Given the description of an element on the screen output the (x, y) to click on. 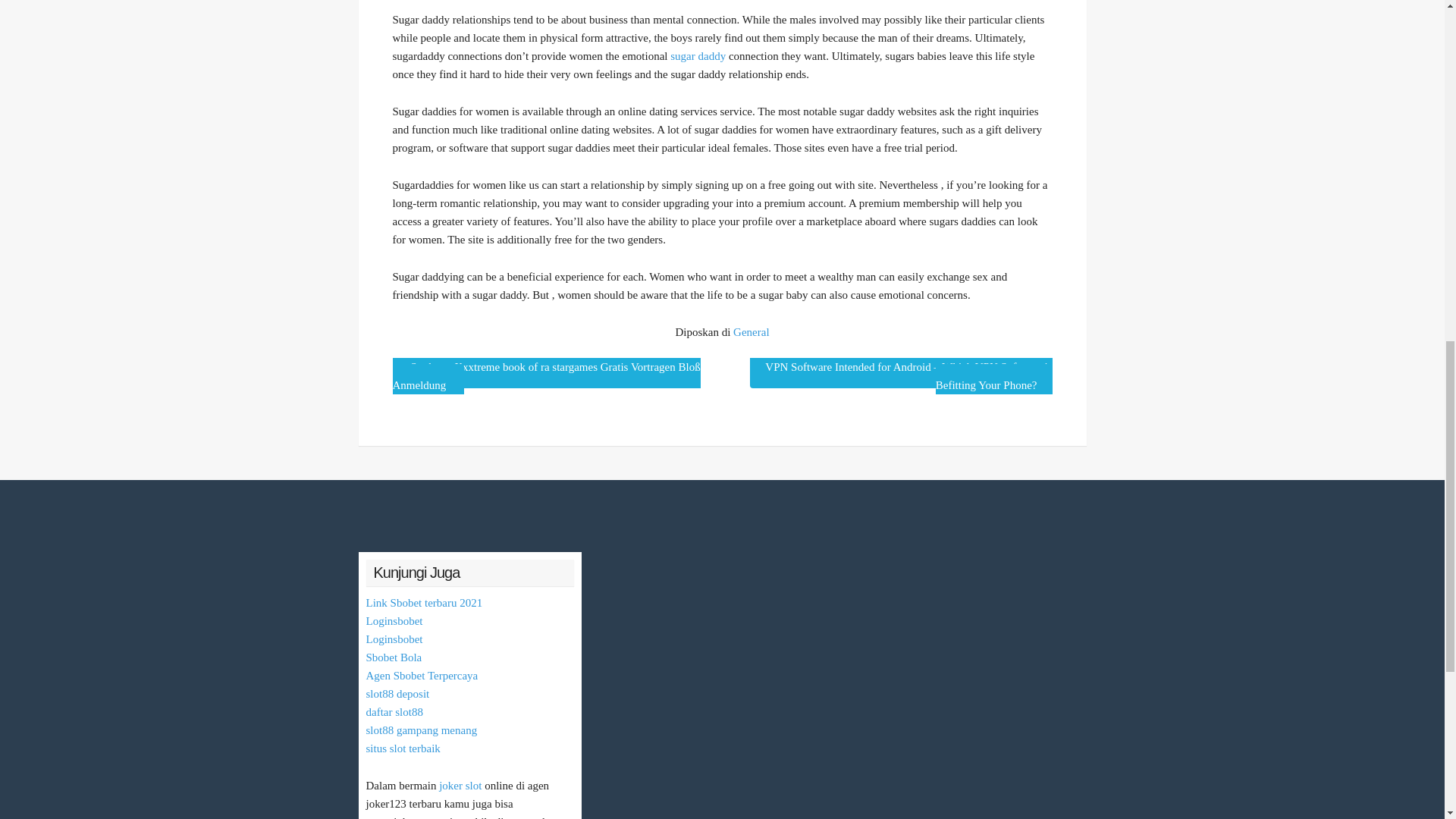
sugar daddy (697, 55)
Sbobet Bola (393, 657)
daftar slot88 (393, 711)
Agen Sbobet Terpercaya (421, 675)
General (750, 331)
Link Sbobet terbaru 2021 (423, 603)
slot88 deposit (397, 693)
slot88 gampang menang (421, 729)
situs slot terbaik (402, 748)
Loginsbobet (393, 639)
joker slot (460, 785)
Loginsbobet (393, 621)
